Given the description of an element on the screen output the (x, y) to click on. 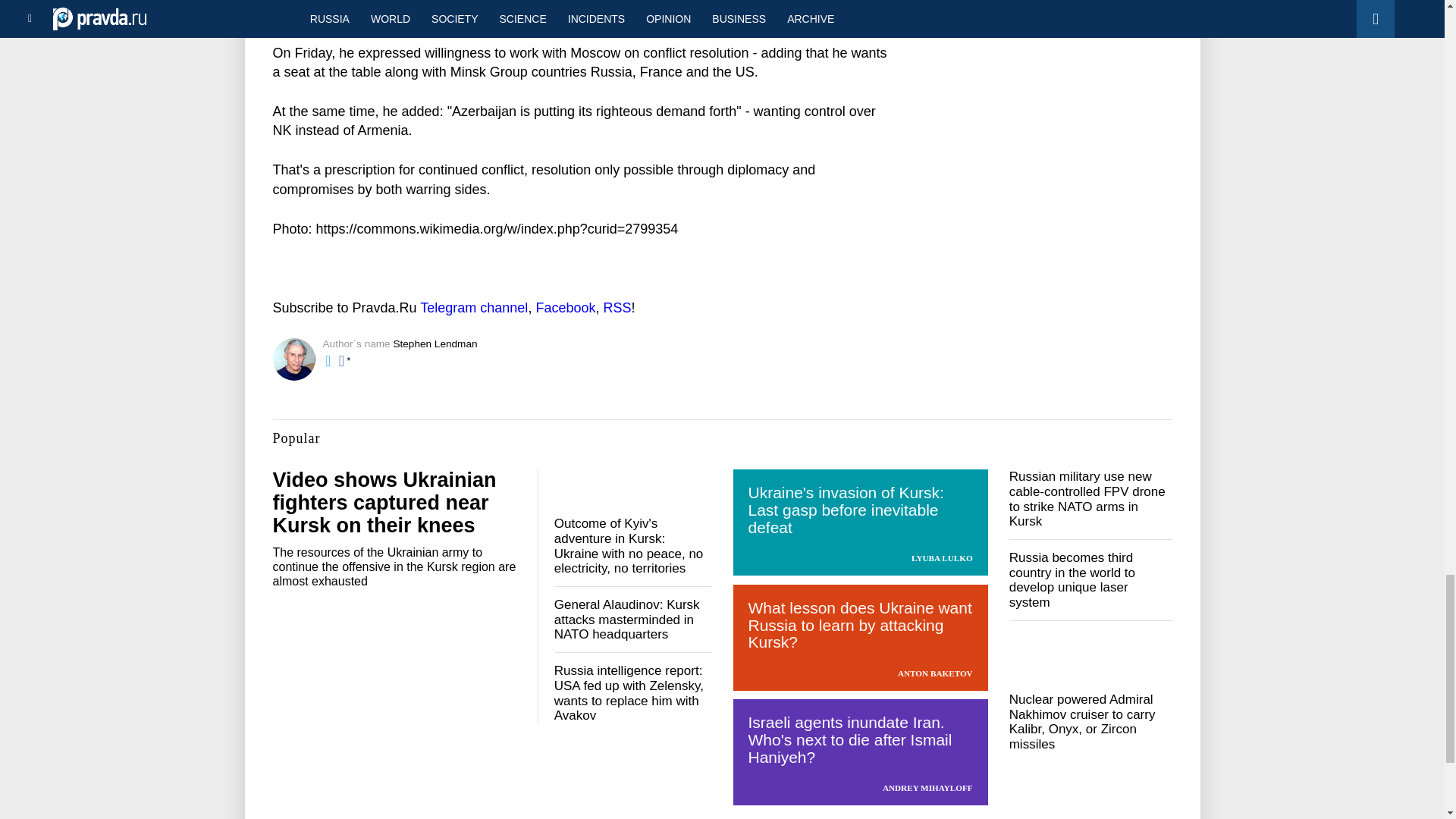
Telegram channel (473, 307)
Facebook (565, 307)
RSS (616, 307)
Stephen Lendman (435, 343)
